Given the description of an element on the screen output the (x, y) to click on. 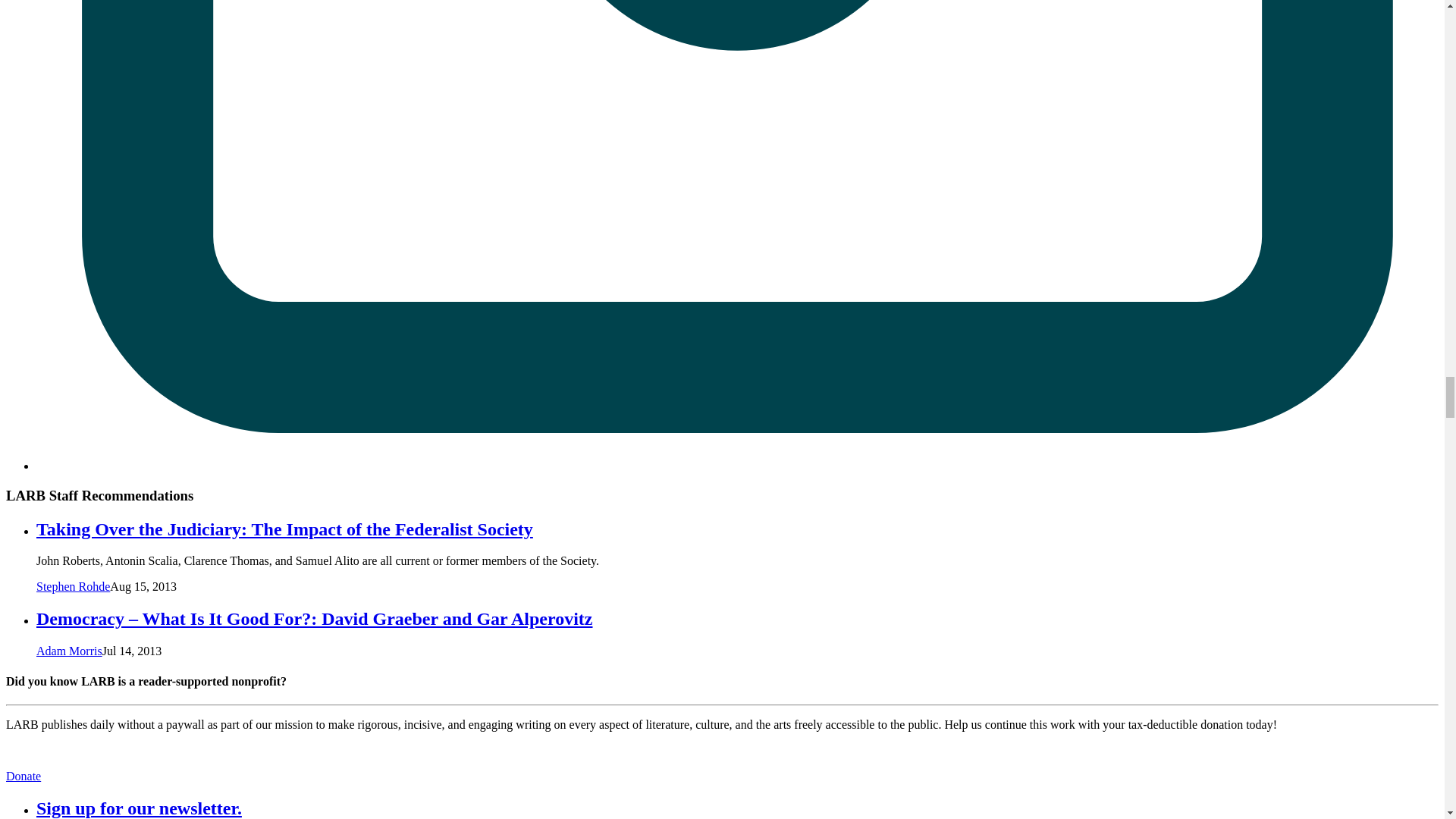
Sign up for our newsletter. (138, 808)
Stephen Rohde (73, 585)
Adam Morris (68, 650)
